Given the description of an element on the screen output the (x, y) to click on. 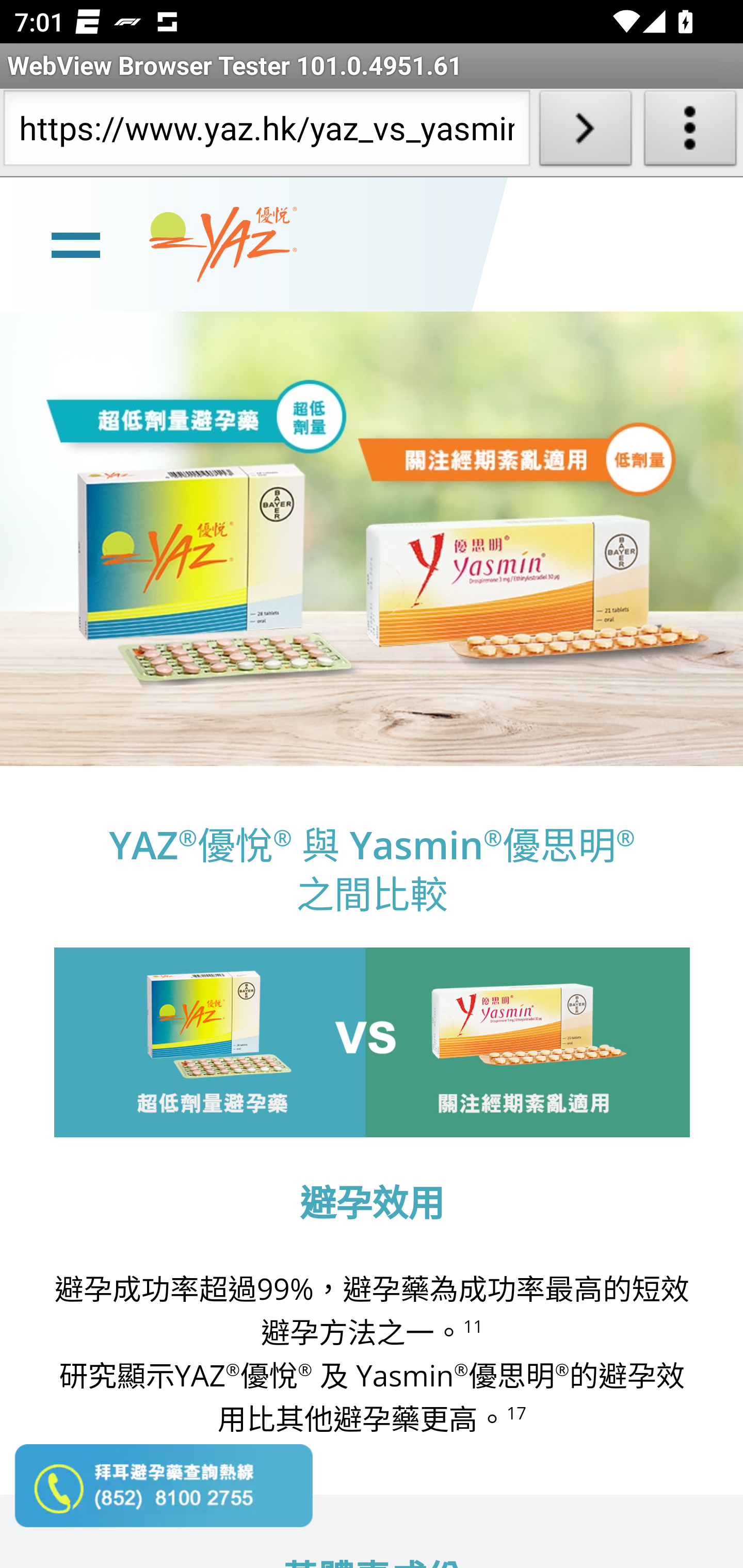
Load URL (585, 132)
About WebView (690, 132)
www.yaz (222, 244)
line Toggle burger menu (75, 242)
